Given the description of an element on the screen output the (x, y) to click on. 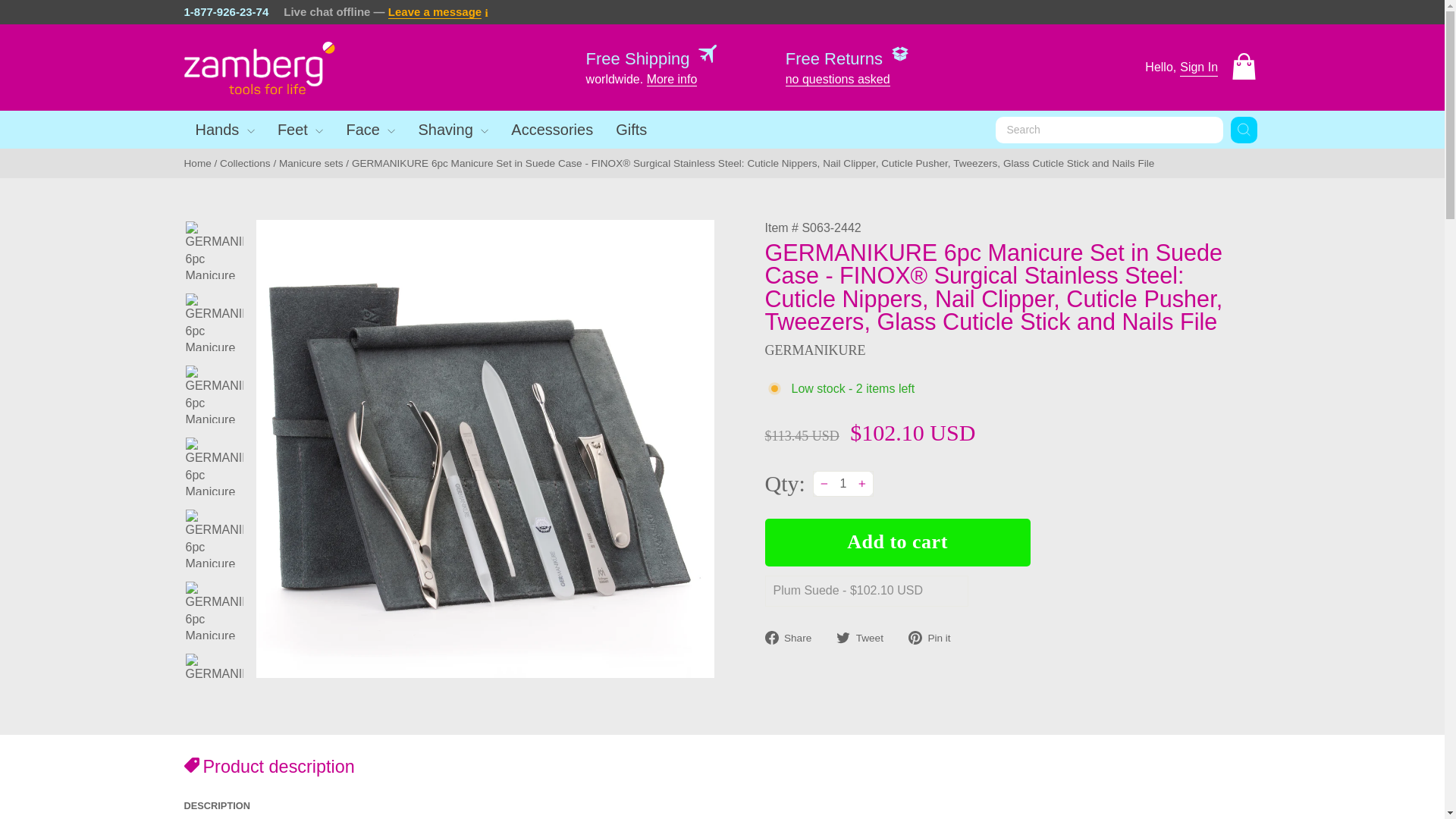
Tweet on Twitter (865, 637)
Share on Facebook (793, 637)
twitter (842, 637)
Pin on Pinterest (935, 637)
1 (842, 483)
Back to the frontpage (197, 163)
